Given the description of an element on the screen output the (x, y) to click on. 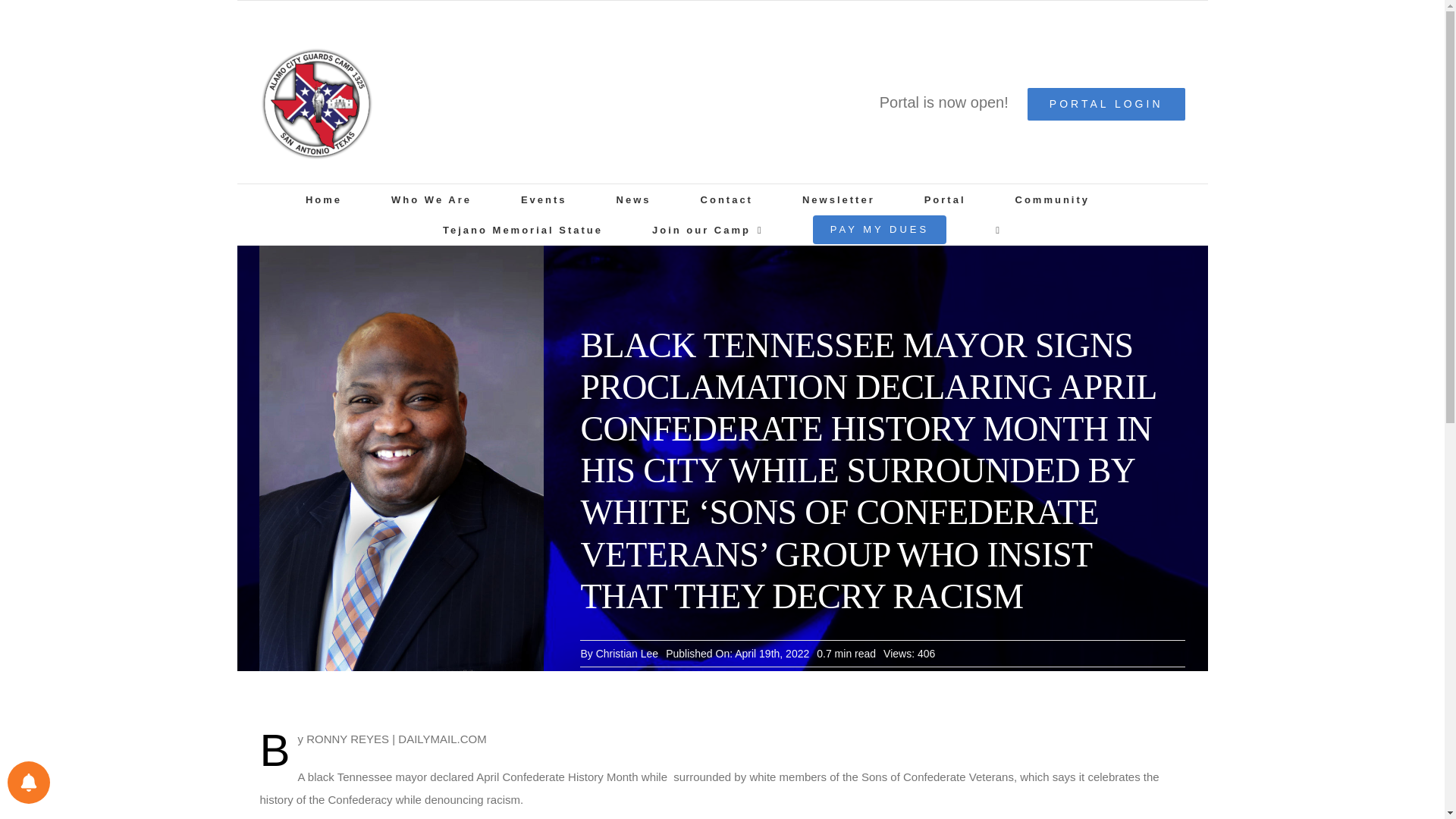
Join our Camp (707, 229)
Notifications preferences (28, 782)
Christian Lee (627, 653)
PORTAL LOGIN (1106, 103)
Home (323, 199)
Posts by Christian Lee (627, 653)
Community (1052, 199)
News (632, 199)
Who We Are (431, 199)
Contact (726, 199)
Events (544, 199)
Portal (945, 199)
Tejano Memorial Statue (522, 229)
PAY MY DUES (879, 229)
Newsletter (838, 199)
